Given the description of an element on the screen output the (x, y) to click on. 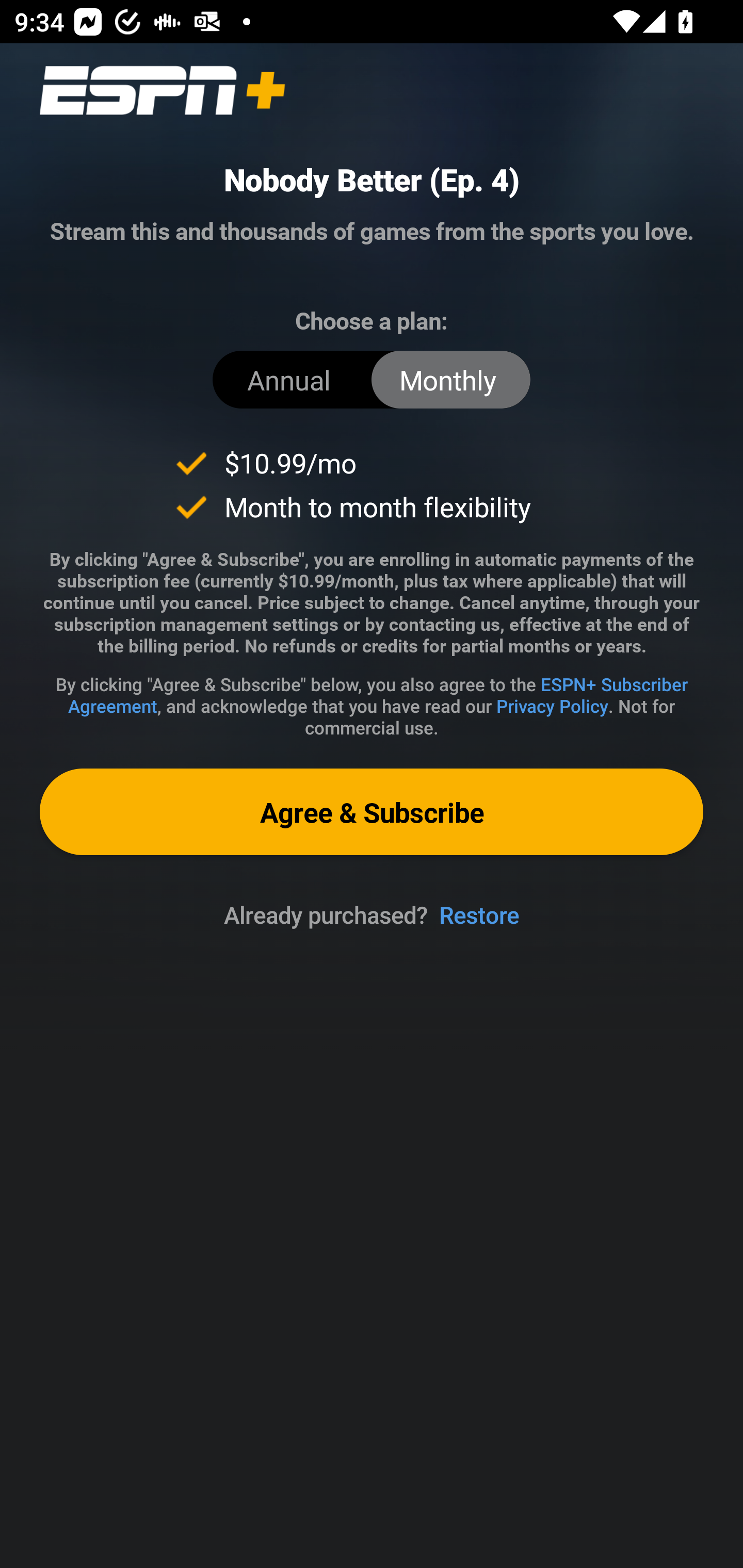
Agree & Subscribe (371, 811)
